Given the description of an element on the screen output the (x, y) to click on. 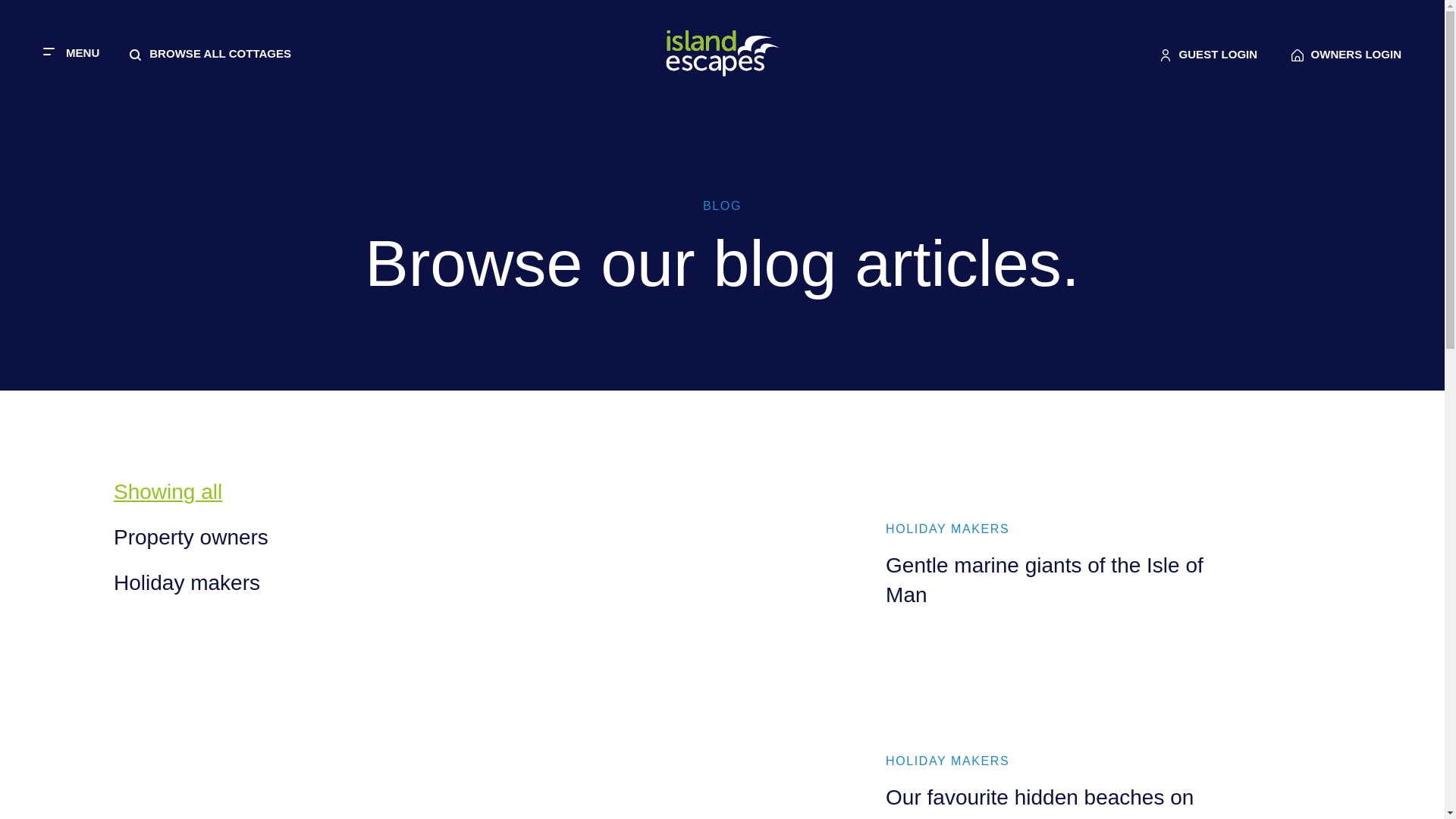
Showing all (167, 491)
MENU (71, 52)
Property owners (190, 536)
GUEST LOGIN (876, 574)
OWNERS LOGIN (1207, 54)
Holiday makers (1345, 54)
BROWSE ALL COTTAGES (186, 582)
